Given the description of an element on the screen output the (x, y) to click on. 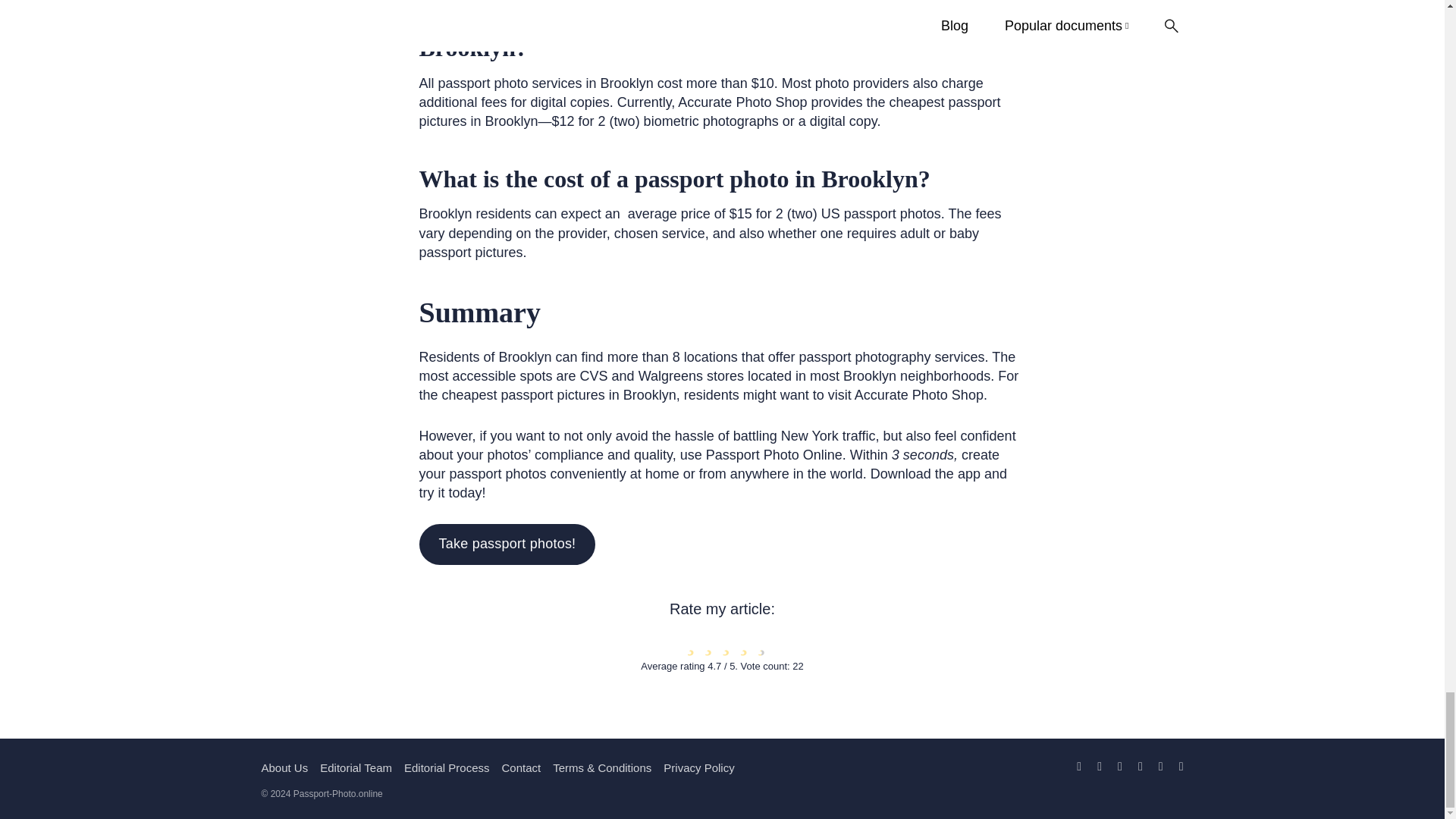
Take passport photos! (507, 544)
